Given the description of an element on the screen output the (x, y) to click on. 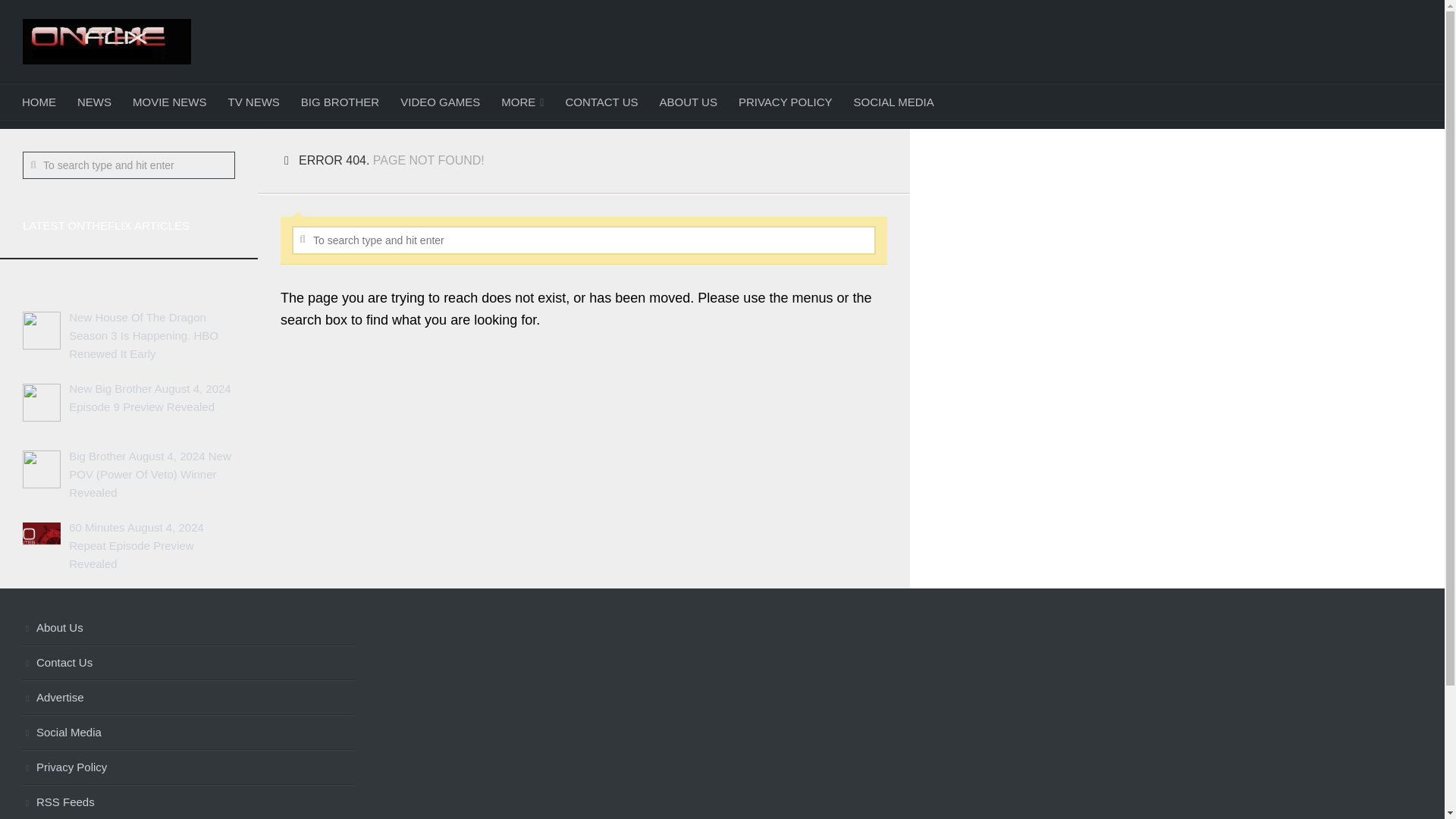
About Us (188, 628)
Contact Us (188, 663)
TV NEWS (252, 102)
SOCIAL MEDIA (893, 102)
RSS Feeds (188, 802)
To search type and hit enter (128, 165)
To search type and hit enter (584, 240)
ABOUT US (688, 102)
MORE (522, 102)
Advertise (188, 697)
60 Minutes August 4, 2024 Repeat Episode Preview Revealed (135, 545)
HOME (38, 102)
VIDEO GAMES (440, 102)
Privacy Policy (188, 768)
BIG BROTHER (339, 102)
